Given the description of an element on the screen output the (x, y) to click on. 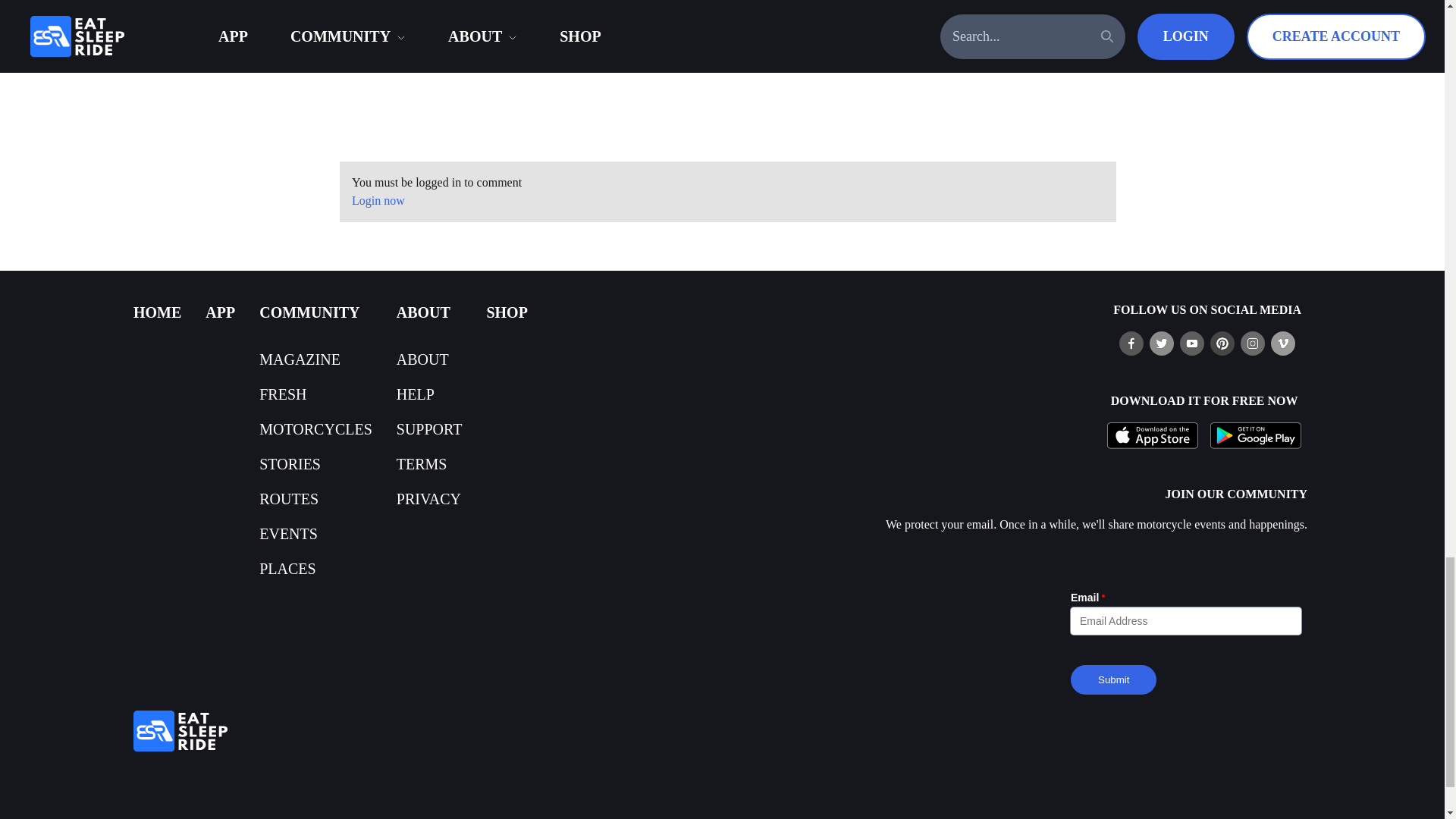
PURE James Bond Furka Pass - Alpine Driving Experience (727, 80)
Go to EatSleepRide Home (497, 731)
app (219, 312)
Stories (289, 463)
Login now (378, 200)
Terms (421, 463)
community (309, 312)
Magazine (299, 359)
Help (414, 393)
About (422, 359)
Fresh (282, 393)
Home (156, 312)
Places (287, 568)
about (422, 312)
Support (429, 428)
